Given the description of an element on the screen output the (x, y) to click on. 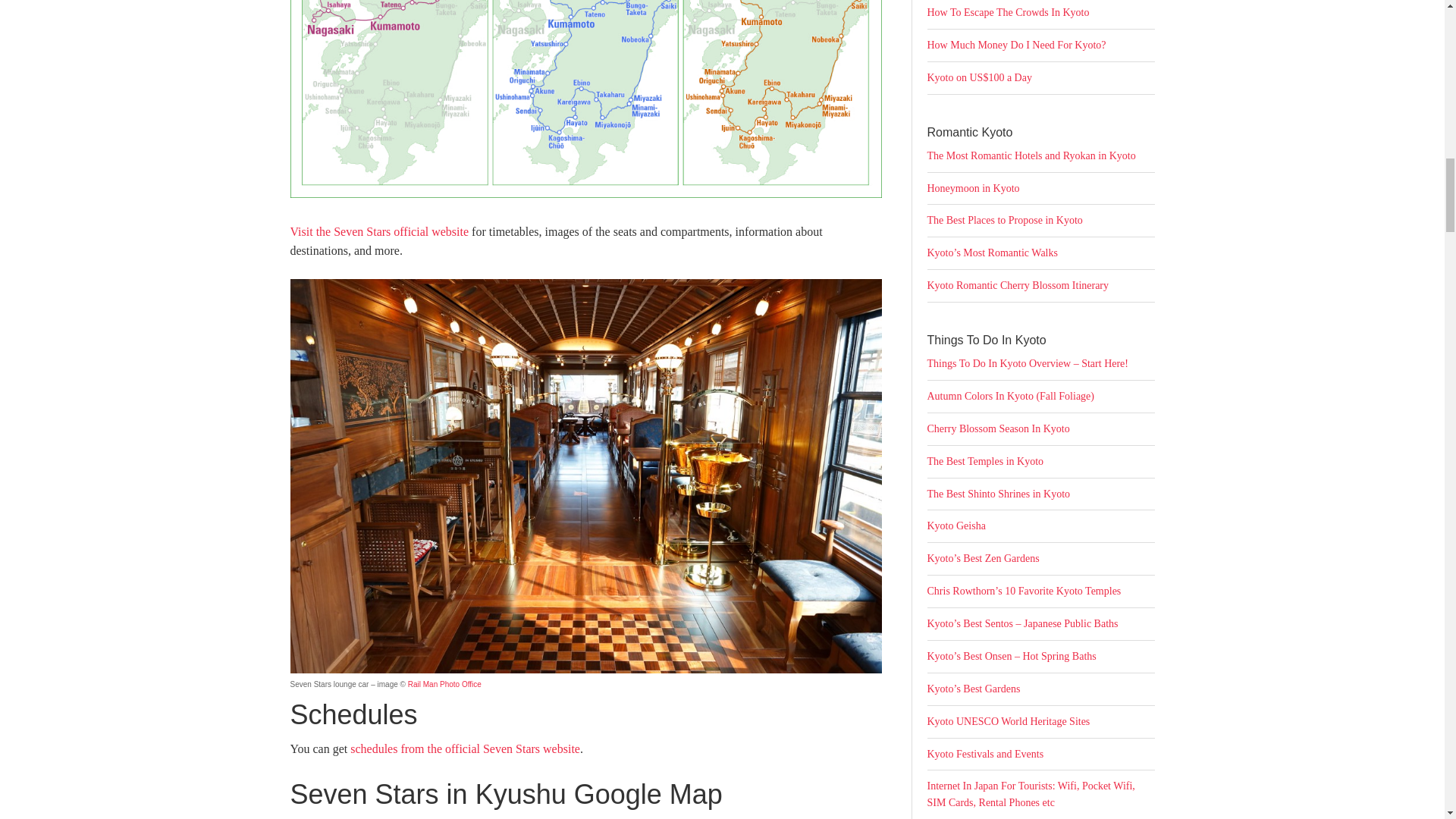
Cherry Blossom Season In Kyoto (997, 428)
Seven Stars route map (584, 98)
Visit the Seven Stars official website (378, 231)
Rail Man Photo Office (444, 684)
schedules from the official Seven Stars website (464, 748)
